Given the description of an element on the screen output the (x, y) to click on. 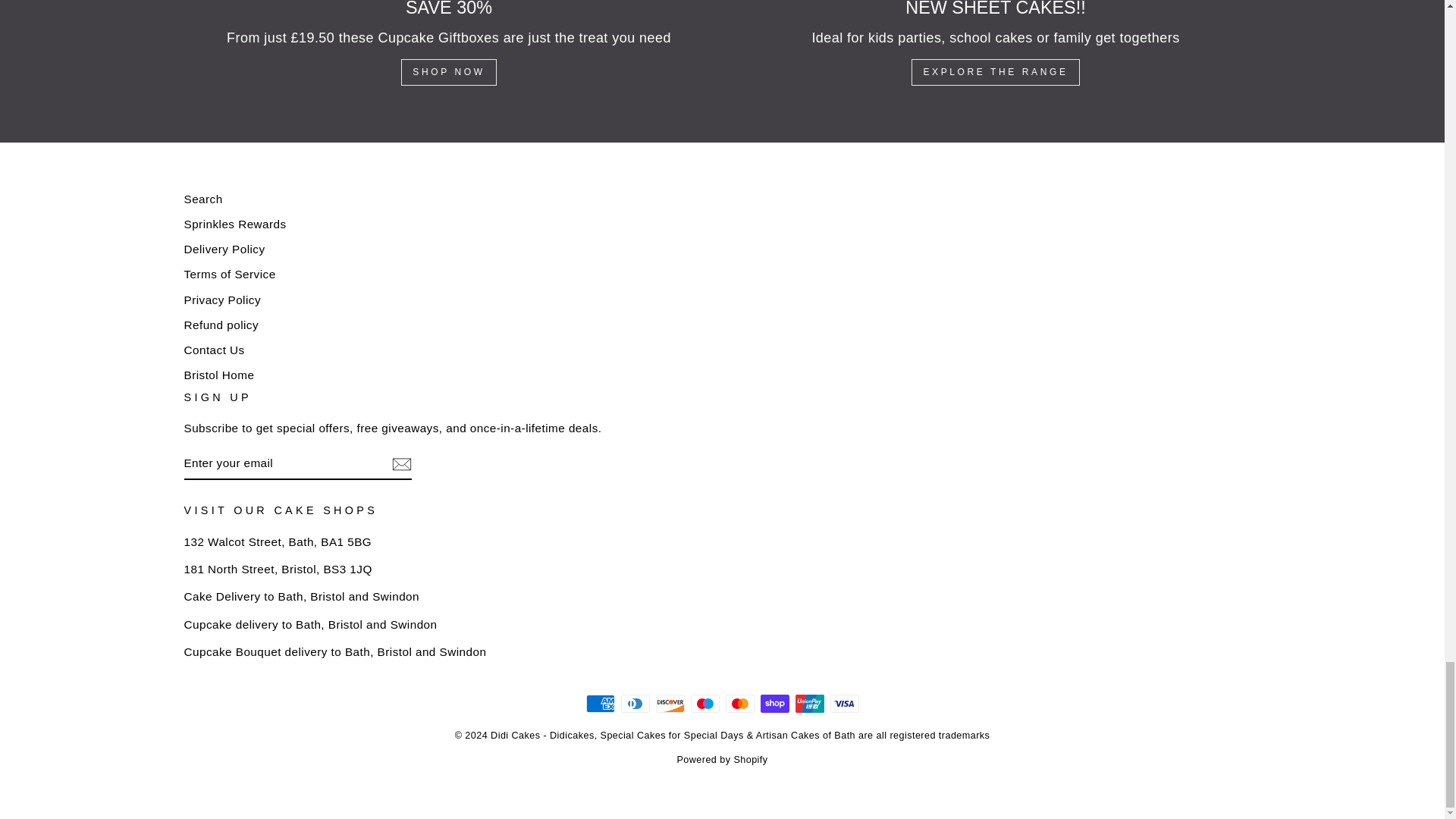
Shop Pay (774, 703)
Maestro (704, 703)
Mastercard (739, 703)
Diners Club (634, 703)
American Express (599, 703)
Discover (669, 703)
